Given the description of an element on the screen output the (x, y) to click on. 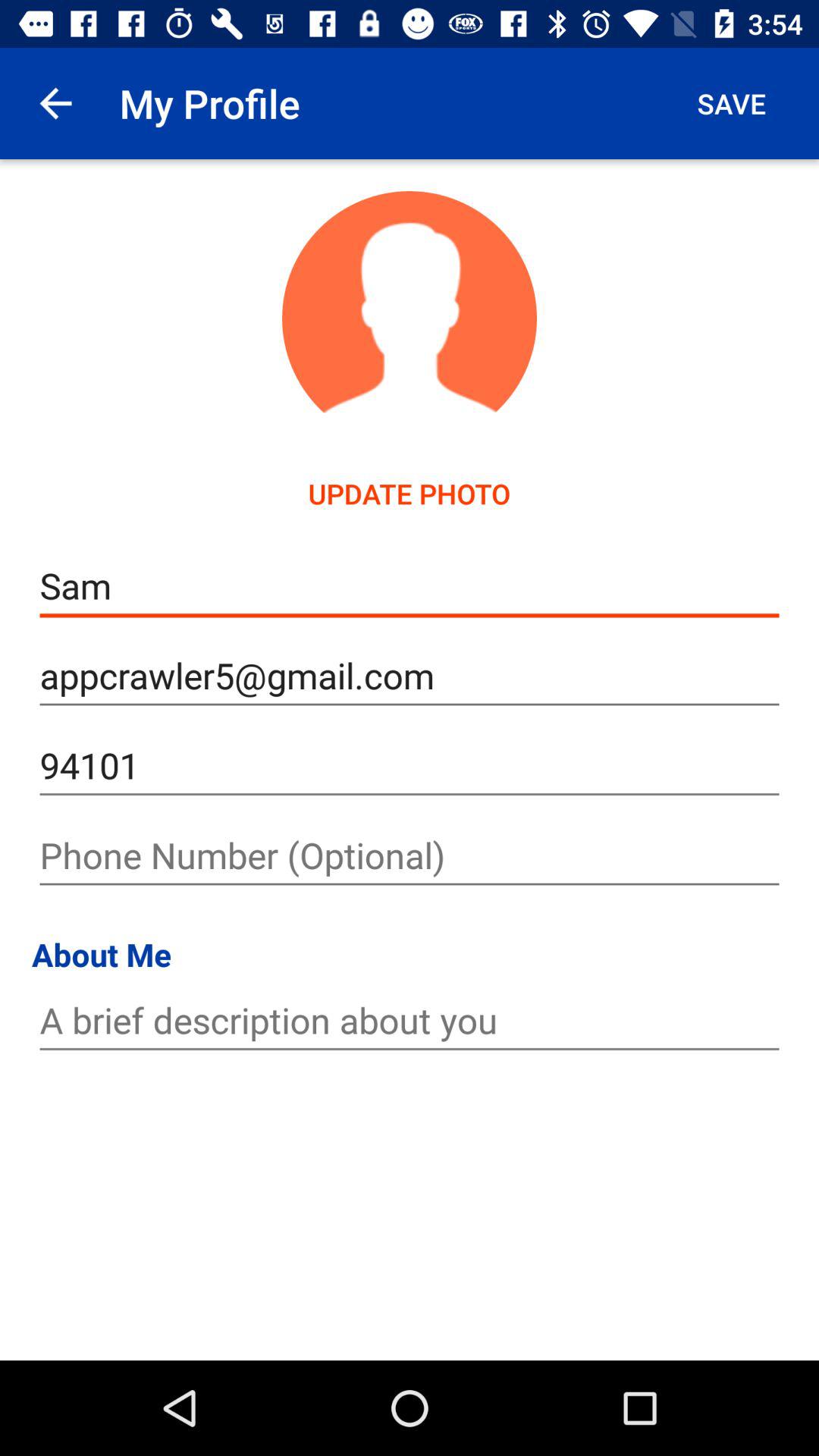
turn on icon above the sam icon (731, 103)
